Given the description of an element on the screen output the (x, y) to click on. 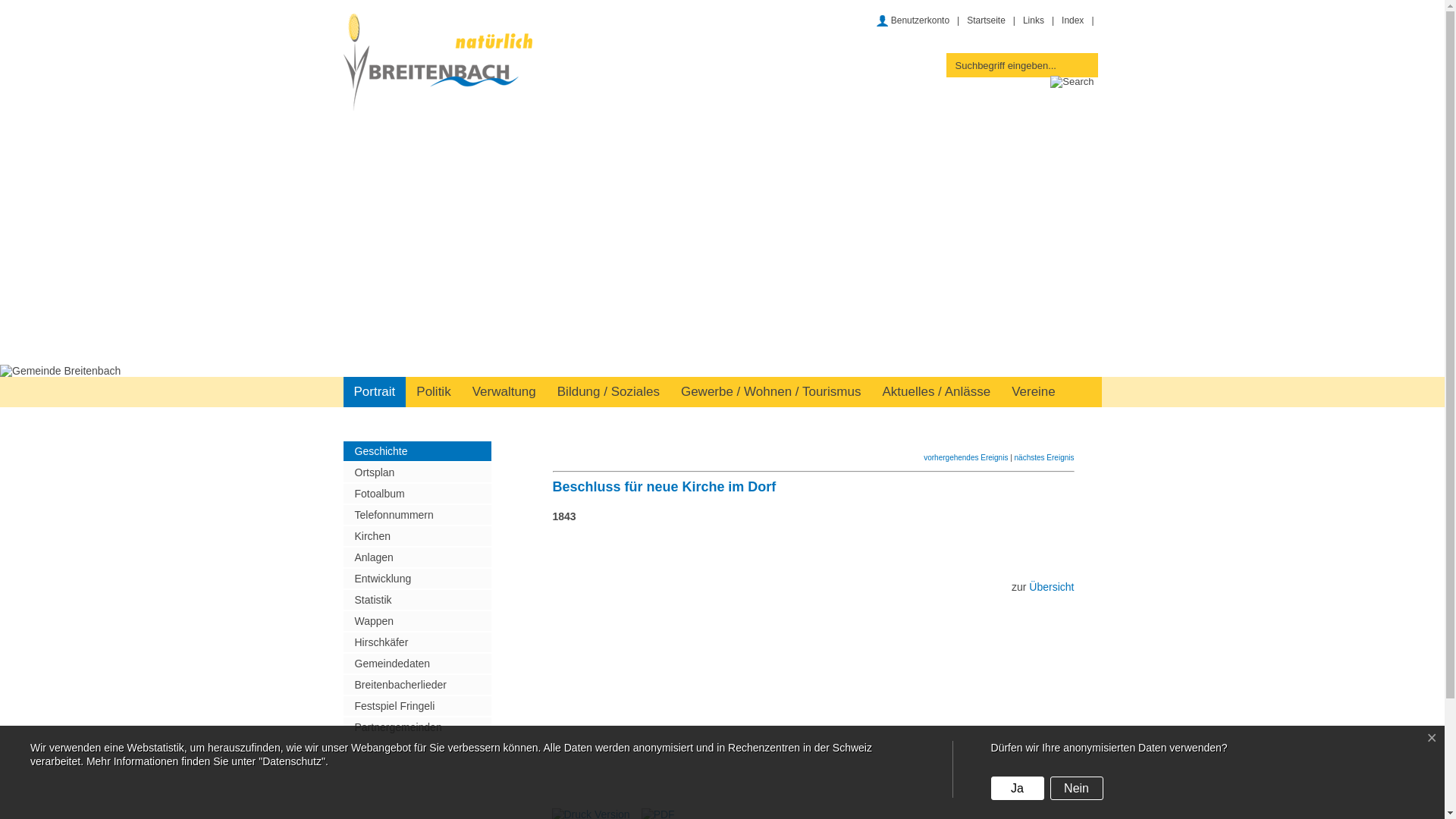
Gemeindedaten Element type: text (416, 663)
Telefonnummern Element type: text (416, 514)
Ortsplan Element type: text (416, 472)
Ja Element type: text (1017, 788)
Links Element type: text (1033, 20)
Breitenbacherlieder Element type: text (416, 684)
Portrait Element type: text (373, 391)
Vereine Element type: text (1033, 391)
Kirchen Element type: text (416, 536)
Nein Element type: text (1076, 788)
Festspiel Fringeli Element type: text (416, 705)
Partnergemeinden Element type: text (416, 727)
Startseite Element type: text (985, 20)
Verwaltung Element type: text (503, 391)
Geschichte Element type: text (416, 451)
Fotoalbum Element type: text (416, 493)
 Benutzerkonto Element type: text (912, 20)
vorhergehendes Ereignis Element type: text (965, 457)
Suchbegriff eingeben... Element type: text (1008, 65)
Wappen Element type: text (416, 620)
Bildung / Soziales Element type: text (608, 391)
Gewerbe / Wohnen / Tourismus Element type: text (771, 391)
Statistik Element type: text (416, 599)
Index Element type: text (1072, 20)
Anlagen Element type: text (416, 557)
Entwicklung Element type: text (416, 578)
Politik Element type: text (433, 391)
